Given the description of an element on the screen output the (x, y) to click on. 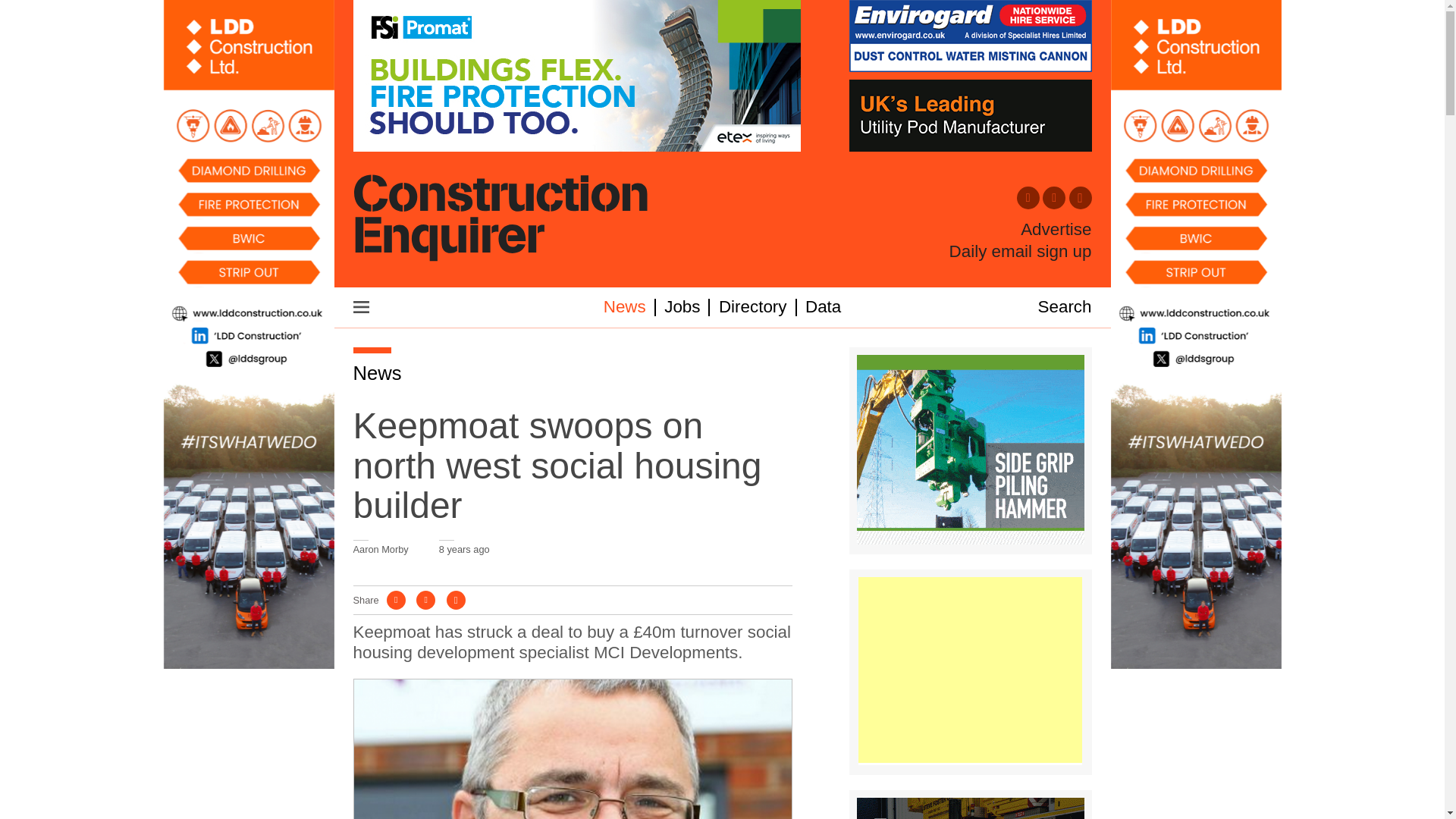
Search (1065, 306)
Daily email sign up (1020, 251)
Menu (361, 306)
News (625, 306)
Jobs (681, 306)
Construction Enquirer (500, 219)
Directory (753, 306)
Advertise (1055, 229)
Data (823, 306)
Advertisement (970, 669)
News (377, 373)
